Given the description of an element on the screen output the (x, y) to click on. 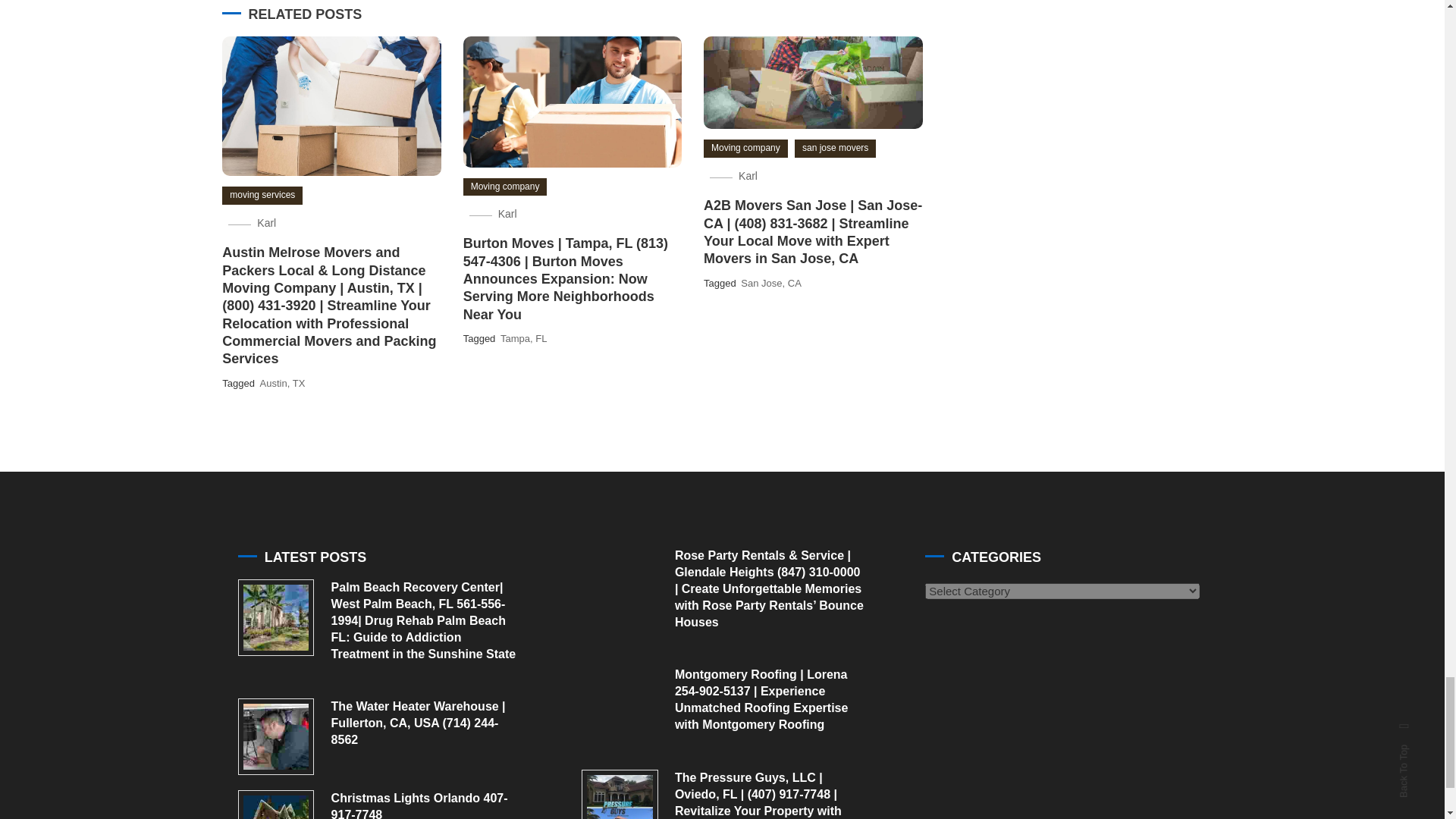
Christmas Lights Orlando 407-917-7748 (276, 804)
